Given the description of an element on the screen output the (x, y) to click on. 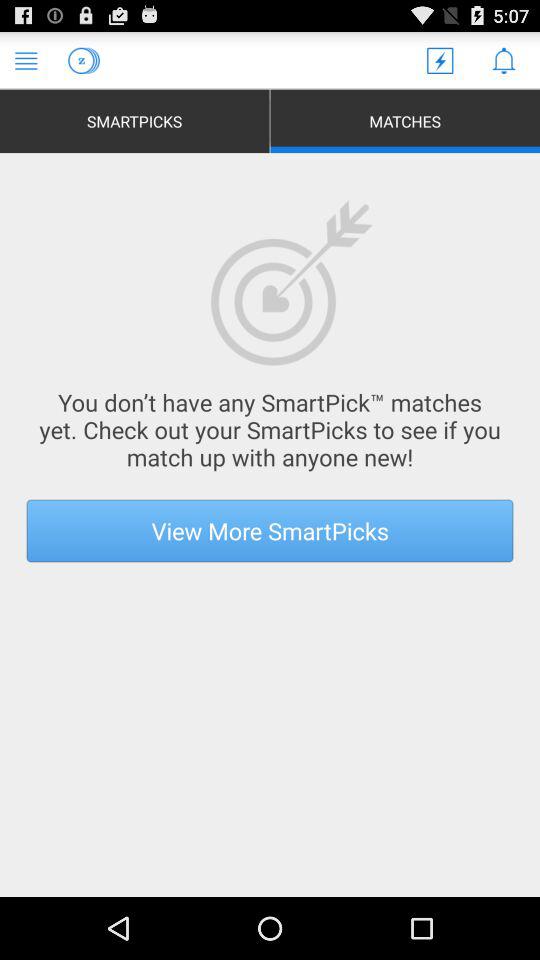
swipe to the view more smartpicks icon (269, 530)
